Given the description of an element on the screen output the (x, y) to click on. 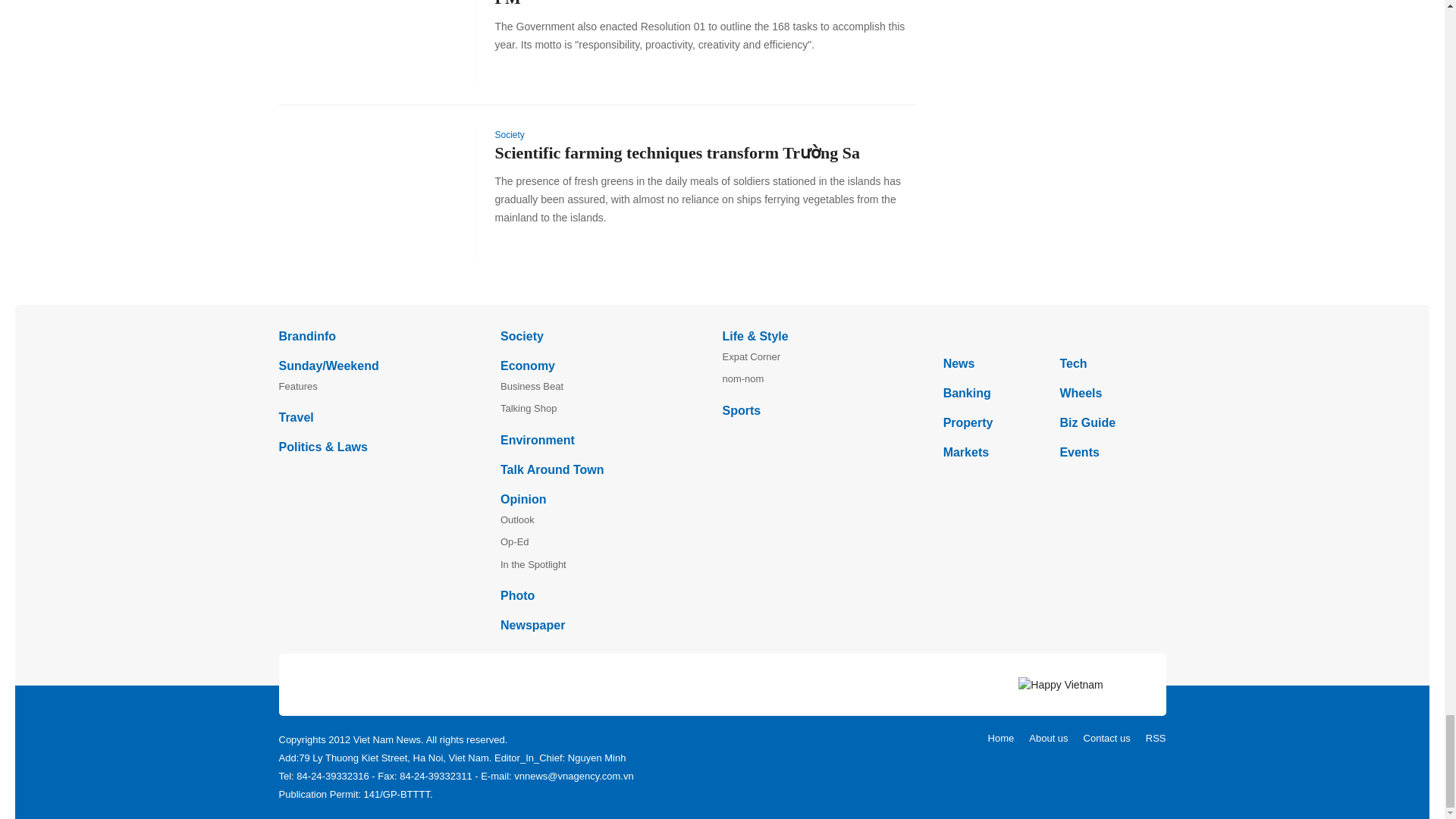
bizhub (1054, 335)
